Given the description of an element on the screen output the (x, y) to click on. 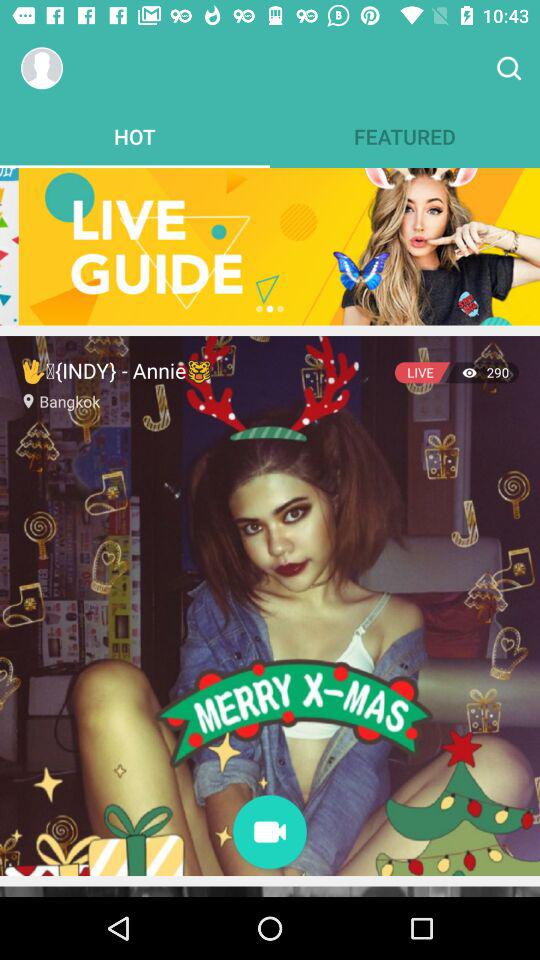
account options (42, 68)
